Given the description of an element on the screen output the (x, y) to click on. 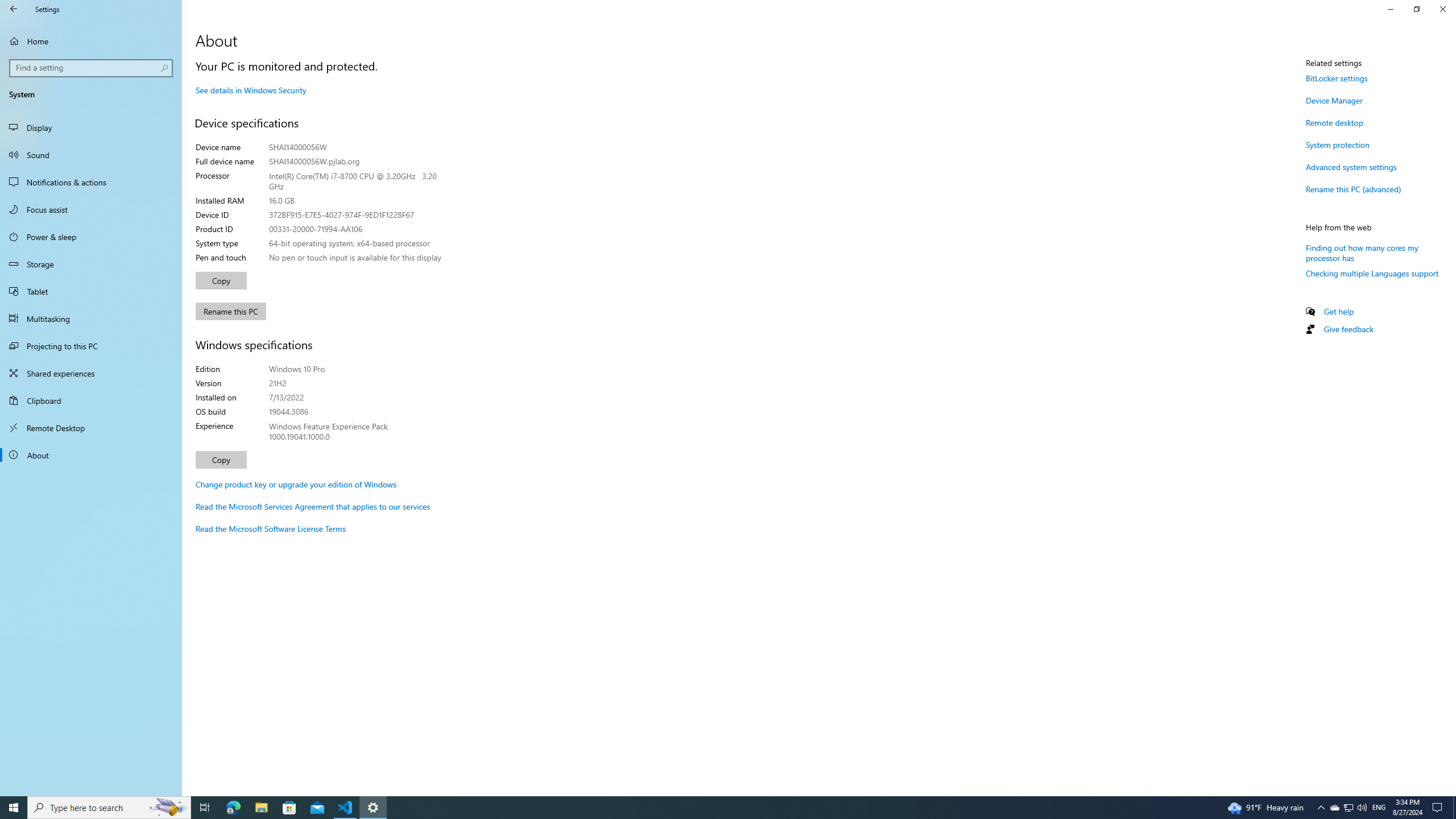
Storage (91, 263)
Minimize Settings (1390, 9)
Close Settings (1442, 9)
Tablet (91, 290)
BitLocker settings (1336, 77)
Shared experiences (91, 372)
Rename this PC (230, 311)
Search box, Find a setting (91, 67)
